Given the description of an element on the screen output the (x, y) to click on. 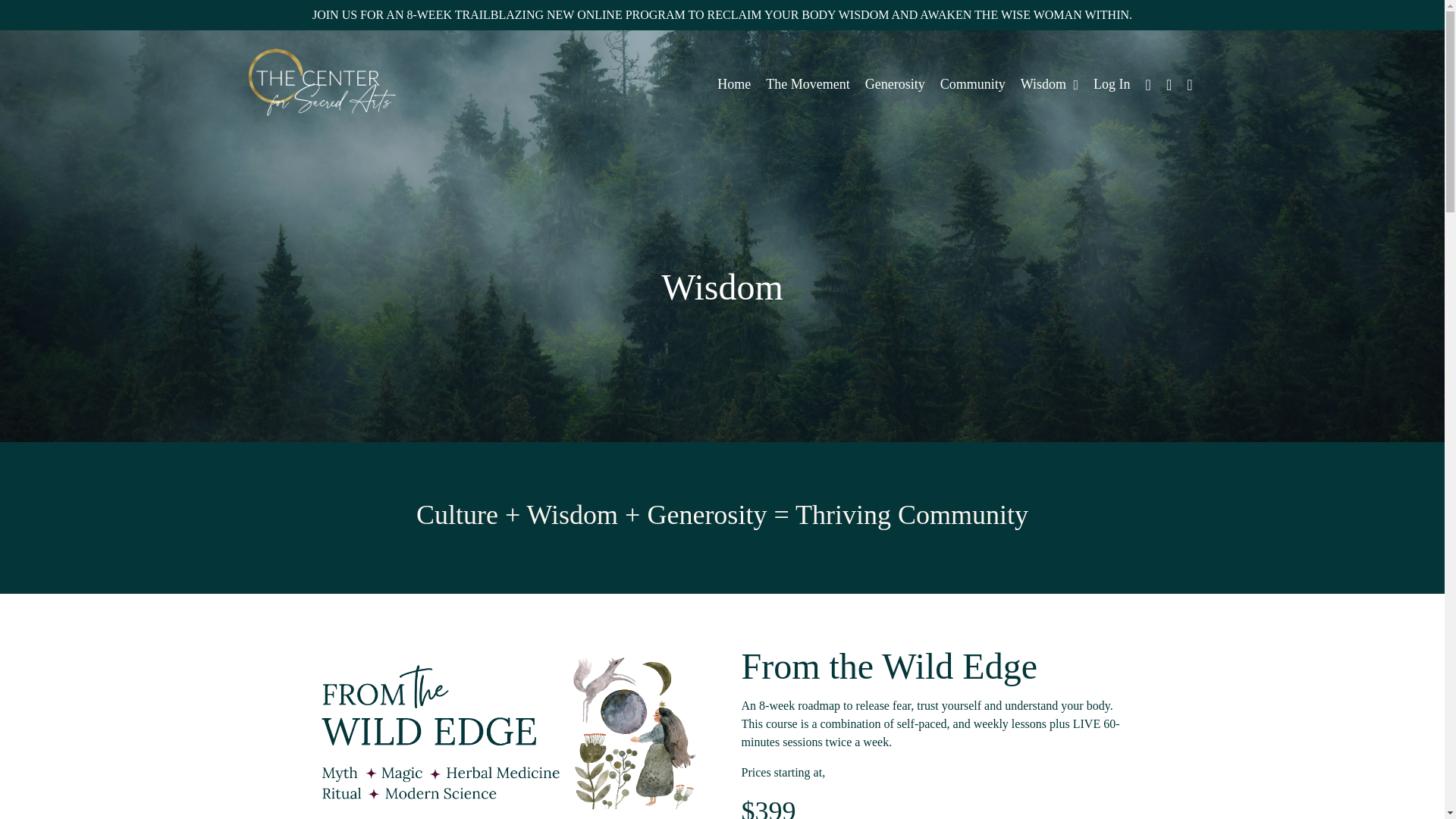
Generosity (894, 84)
Community (973, 84)
Log In (1112, 83)
Wisdom (1049, 84)
The Movement (806, 84)
Home (734, 84)
